Given the description of an element on the screen output the (x, y) to click on. 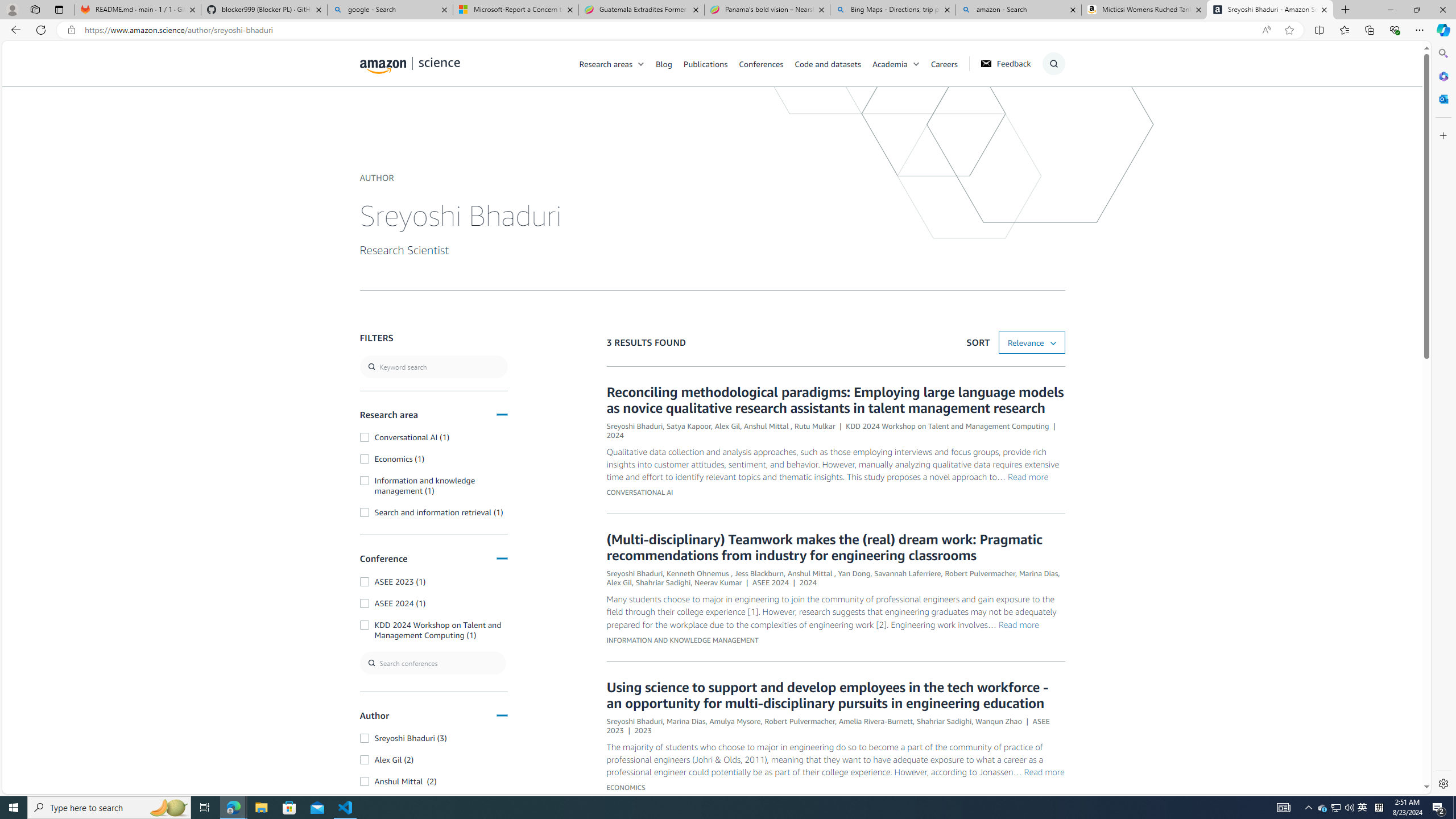
Search conferences (432, 662)
Open Sub Navigation (916, 63)
INFORMATION AND KNOWLEDGE MANAGEMENT (681, 639)
